Given the description of an element on the screen output the (x, y) to click on. 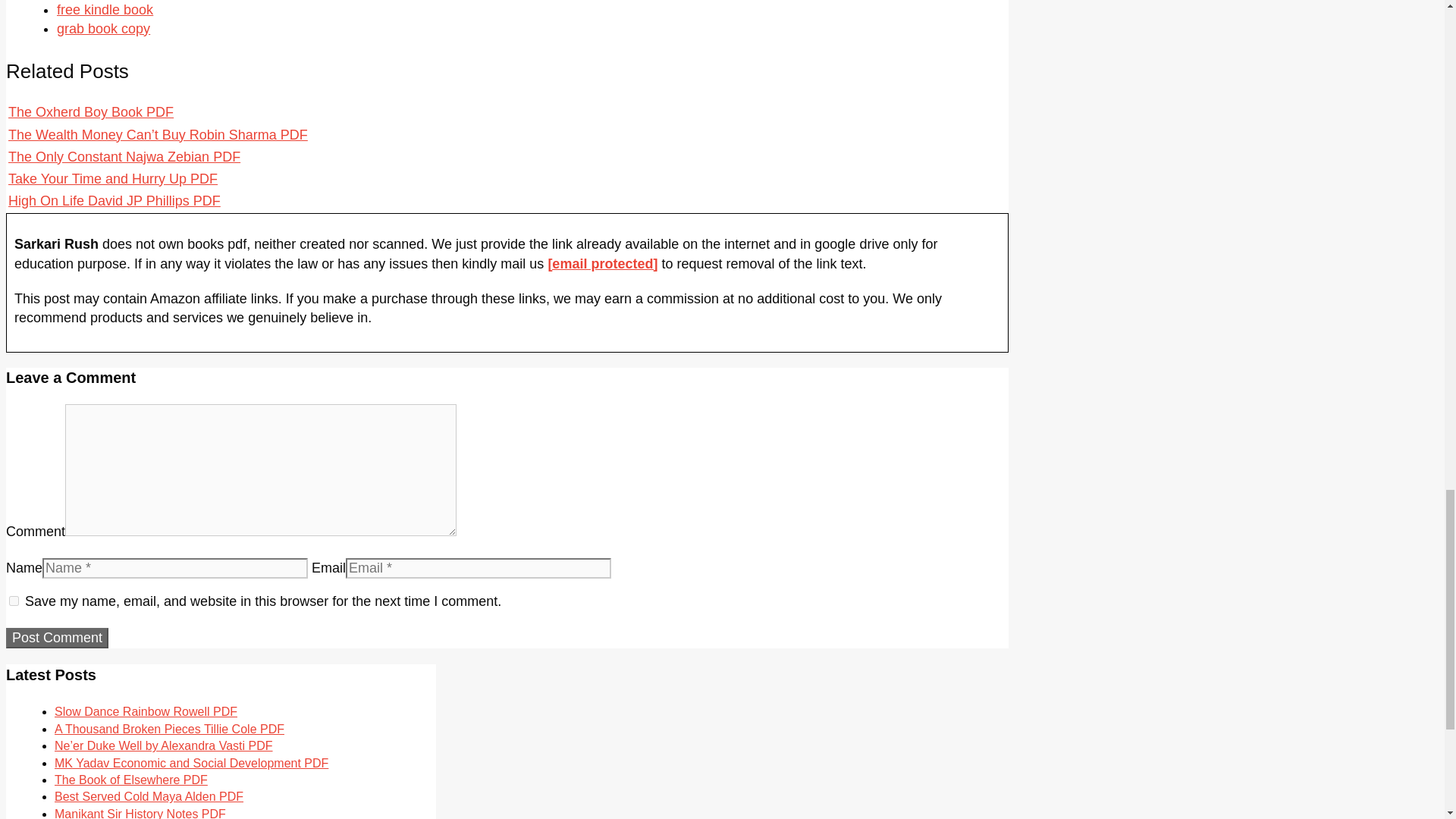
A Thousand Broken Pieces Tillie Cole PDF (169, 728)
Post Comment (56, 638)
Take Your Time and Hurry Up PDF (112, 178)
yes (13, 601)
The Oxherd Boy Book PDF (90, 111)
High On Life David JP Phillips PDF (114, 200)
free kindle book (104, 9)
Slow Dance Rainbow Rowell PDF (146, 711)
grab book copy (102, 28)
The Only Constant Najwa Zebian PDF (124, 156)
Post Comment (56, 638)
MK Yadav Economic and Social Development PDF (192, 762)
